Given the description of an element on the screen output the (x, y) to click on. 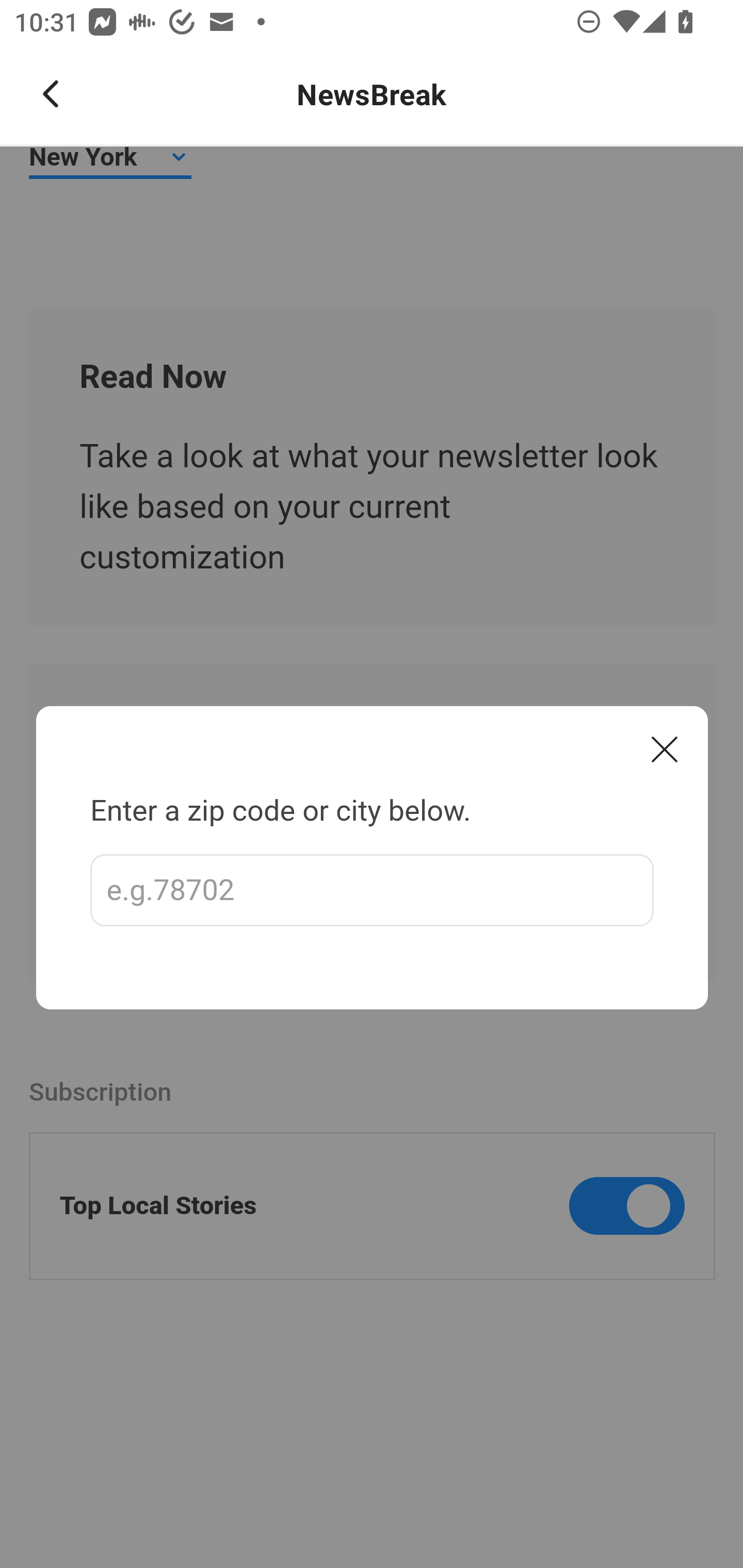
Navigate up (50, 93)
Close (665, 749)
